Given the description of an element on the screen output the (x, y) to click on. 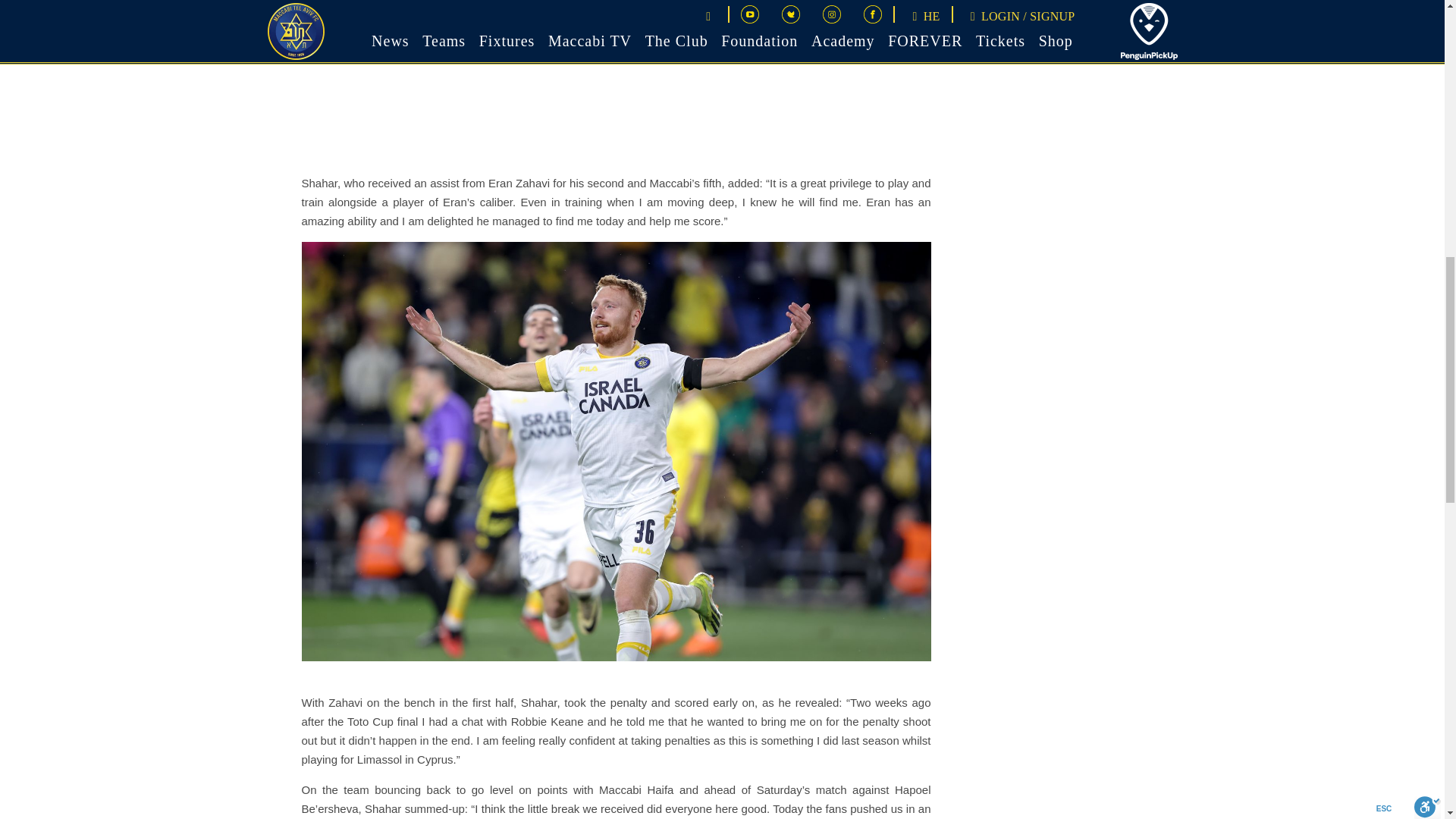
High-contrast presentation of page (392, 32)
Cancel and Stop display flashes and animations (133, 32)
High-contrast of black and yellow (478, 32)
Decreasing screen display (1343, 32)
Presenting an alternative description on mouseover (825, 32)
Highlighting all headings marked with title tag (652, 32)
Using a large white Cursor (46, 90)
Increasing the display size of texts (1084, 32)
Navigation on the screen with the keyboard (46, 32)
Presentation of alternative descriptions permanently (911, 32)
Display the page in brown sepia color (305, 32)
Highlighting all links marked with link tag (737, 32)
Replace all the fonts to a readable fonts (997, 32)
Decreasing the display size of texts (1170, 32)
